Given the description of an element on the screen output the (x, y) to click on. 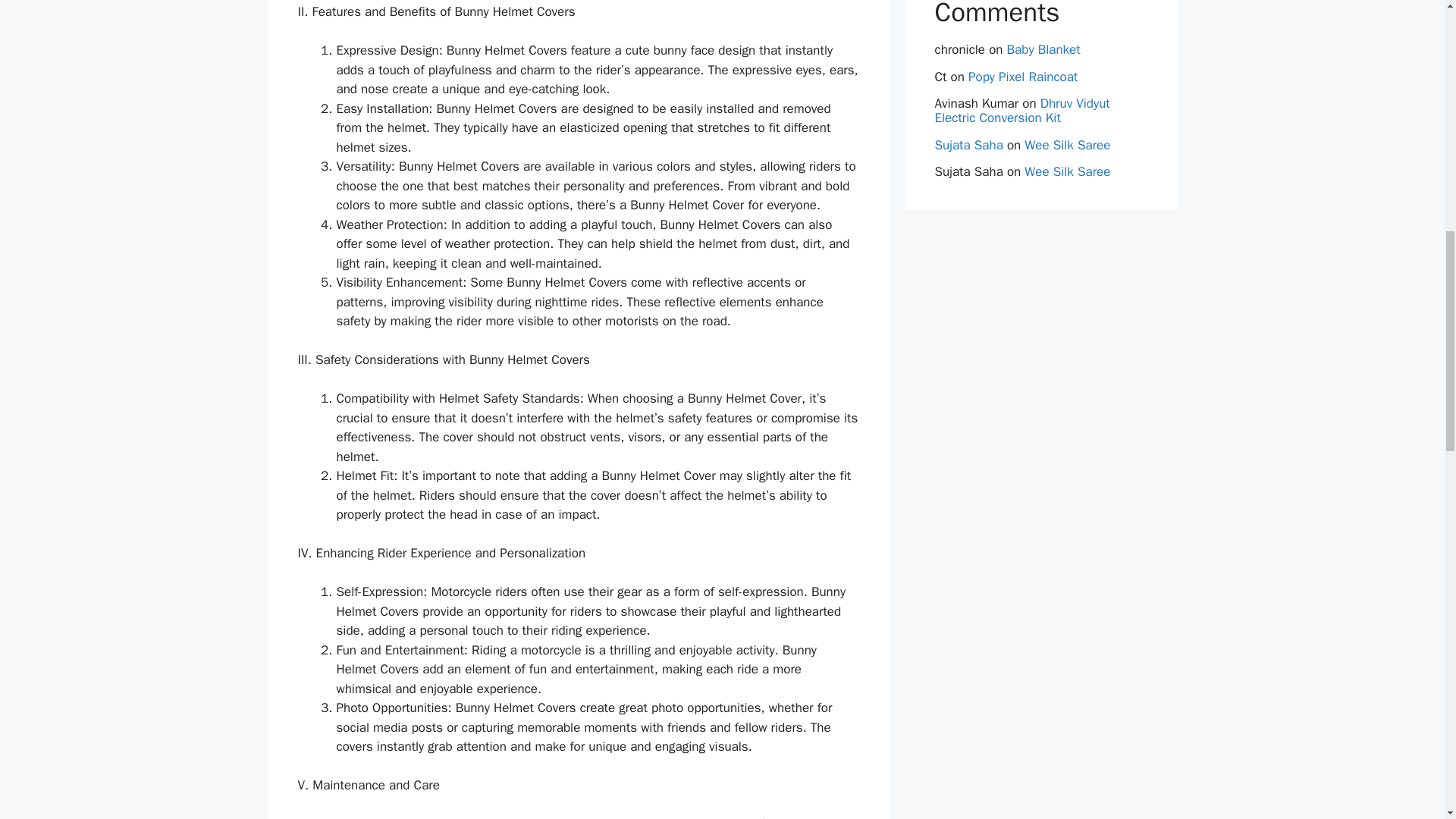
Wee Silk Saree (1067, 171)
Sujata Saha (968, 145)
Wee Silk Saree (1067, 145)
Popy Pixel Raincoat (1022, 76)
Baby Blanket (1043, 49)
Dhruv Vidyut Electric Conversion Kit (1021, 110)
